Given the description of an element on the screen output the (x, y) to click on. 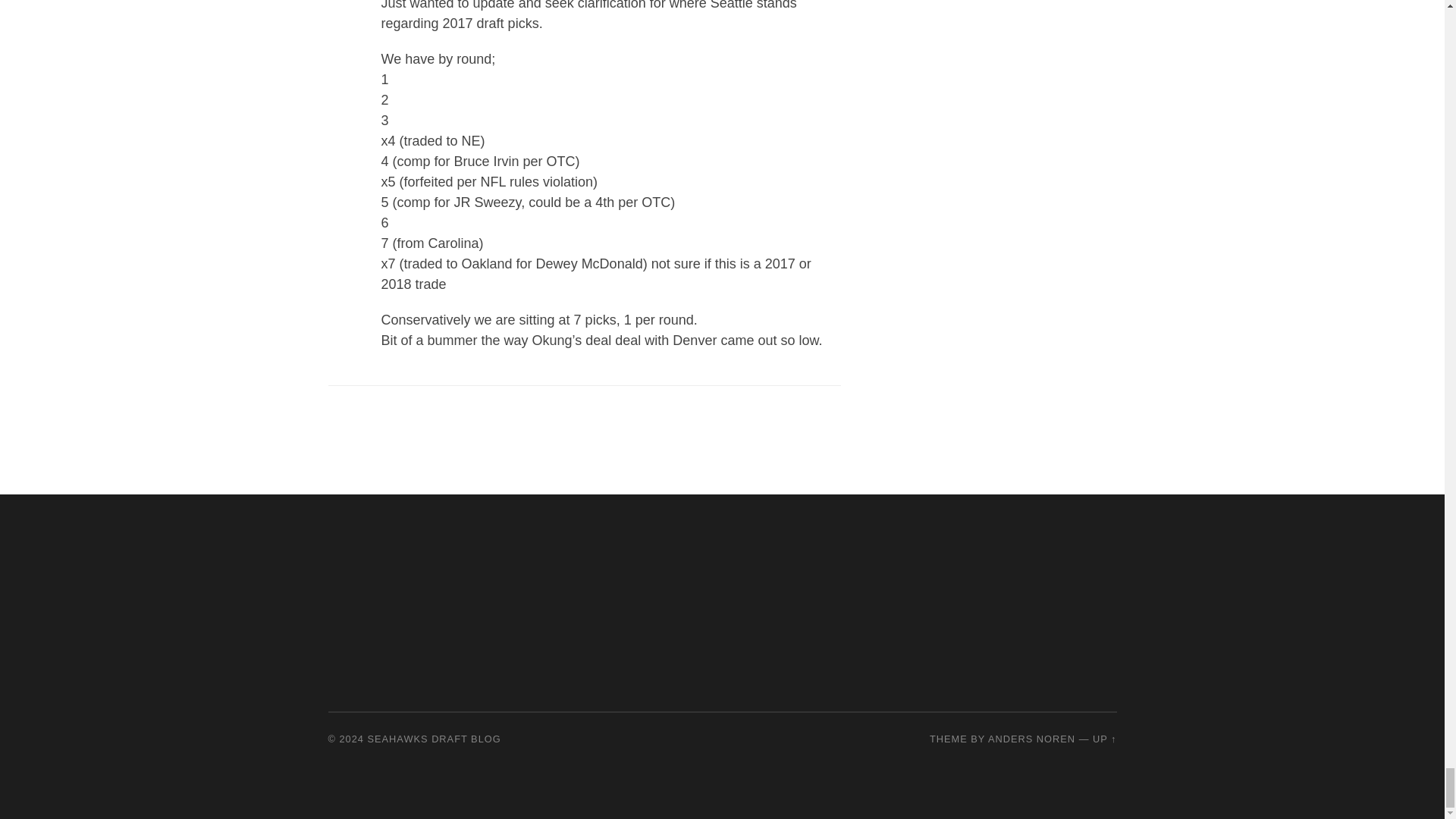
SEAHAWKS DRAFT BLOG (434, 738)
ANDERS NOREN (1031, 738)
